Given the description of an element on the screen output the (x, y) to click on. 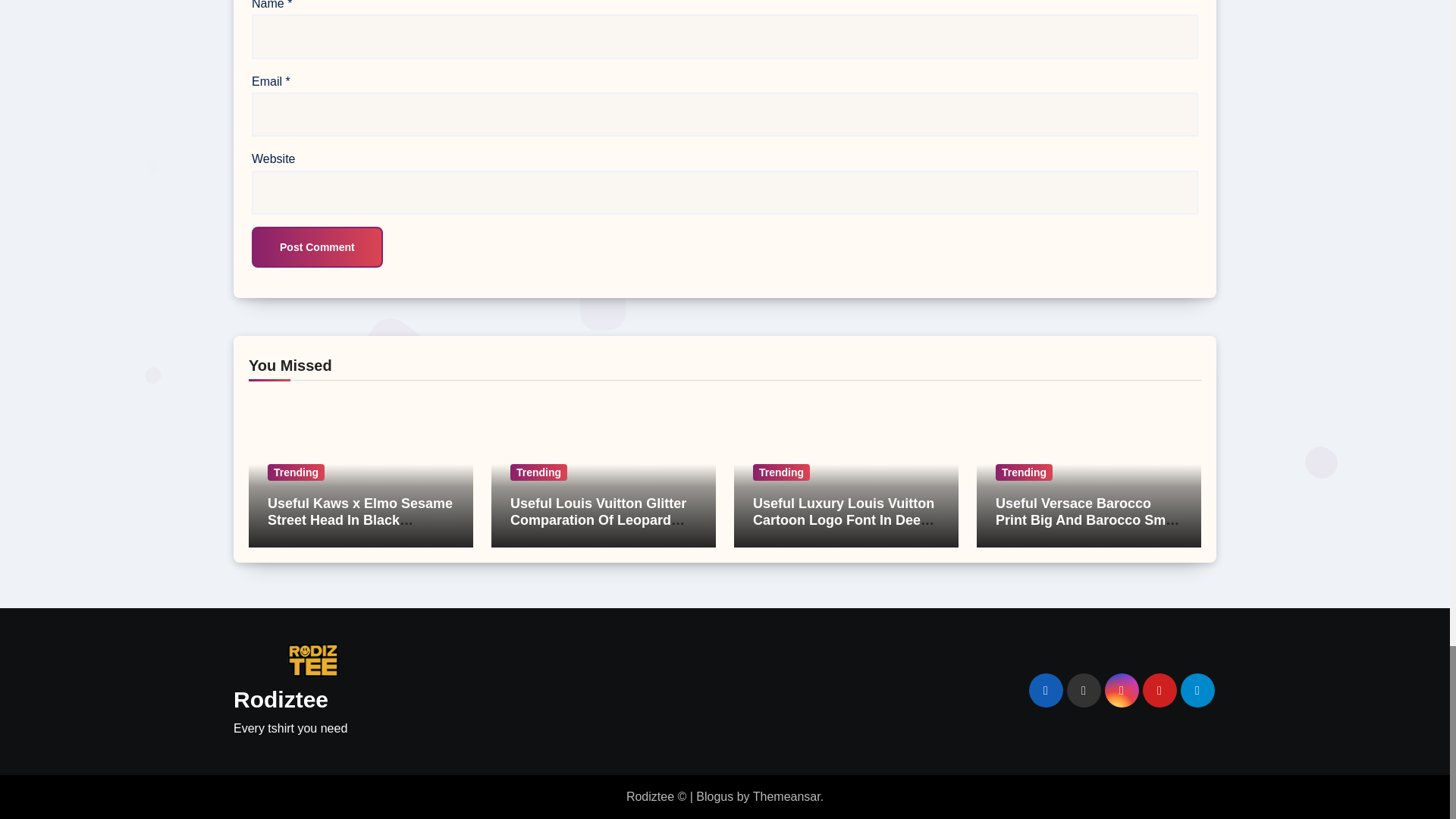
Post Comment (316, 246)
